Given the description of an element on the screen output the (x, y) to click on. 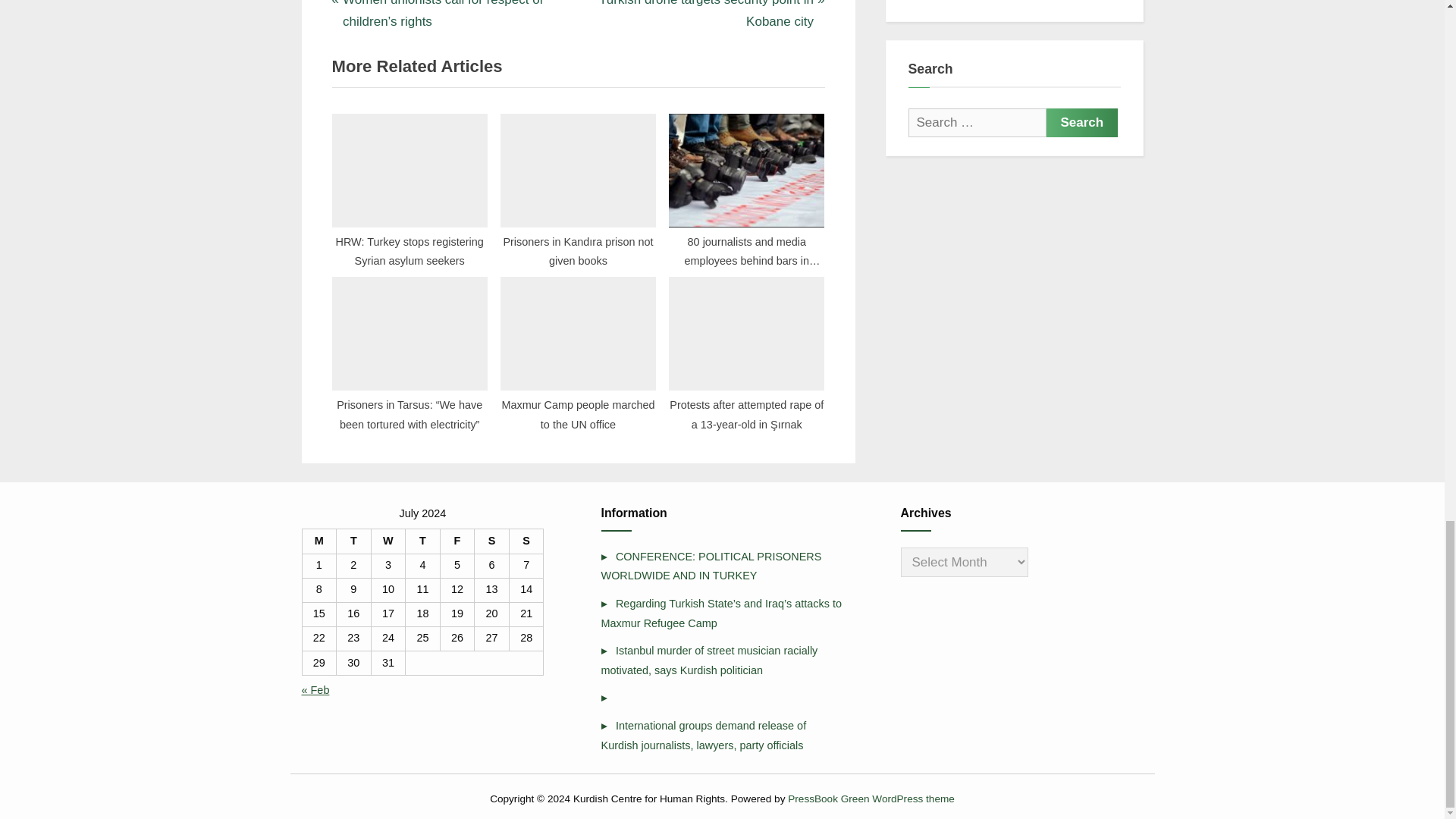
Search (1082, 122)
Friday (456, 541)
Monday (318, 541)
80 journalists and media employees behind bars in Turkey (746, 185)
Tuesday (353, 541)
Search (1082, 122)
HRW: Turkey stops registering Syrian asylum seekers (409, 185)
Thursday (423, 541)
Sunday (525, 541)
Wednesday (388, 541)
Saturday (491, 541)
